Given the description of an element on the screen output the (x, y) to click on. 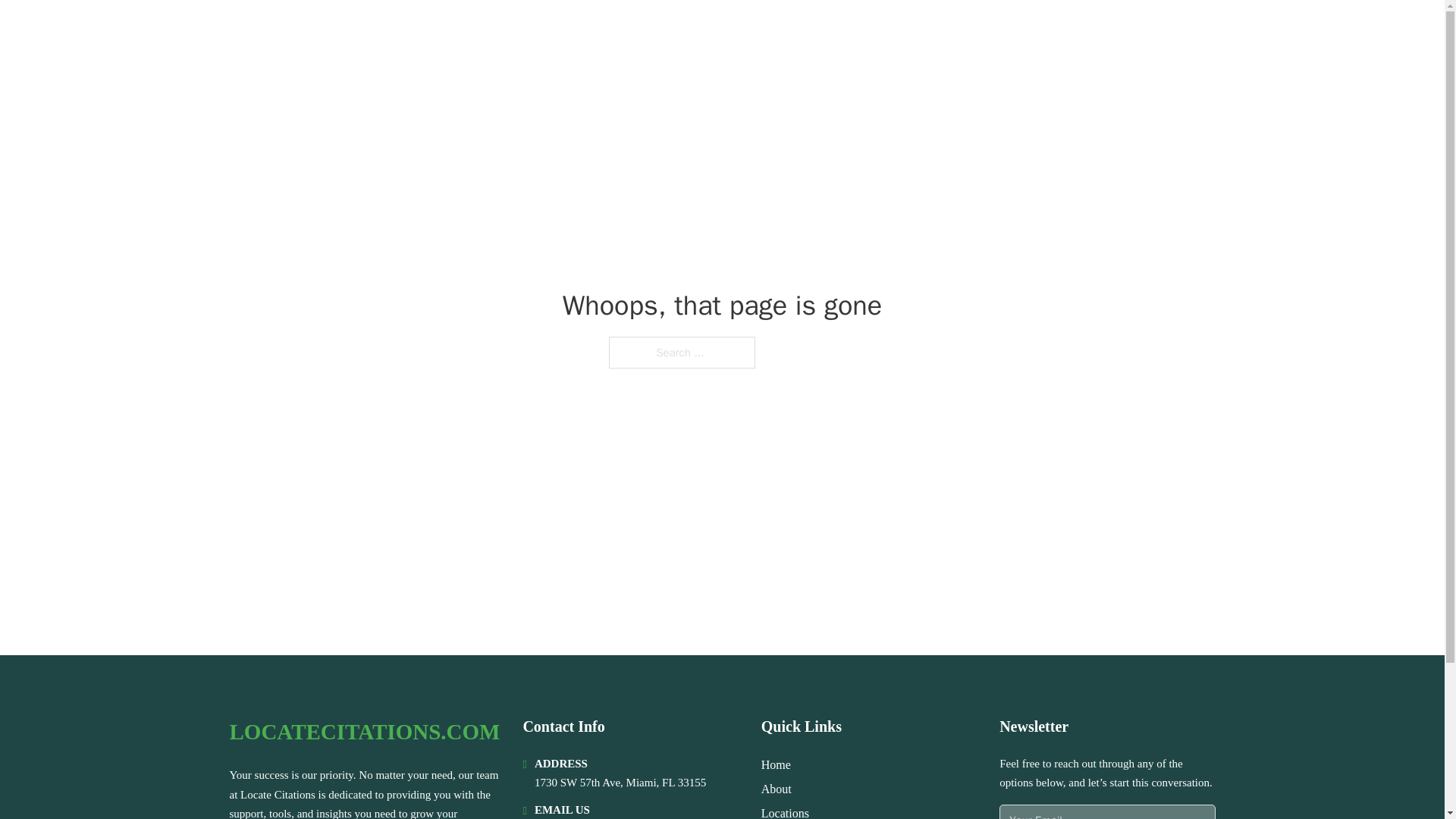
Locations (785, 811)
HOME (1025, 31)
About (776, 788)
Home (775, 764)
LOCATIONS (1098, 31)
LOCATECITATIONS.COM (363, 732)
LOCATECITATIONS.COM (377, 31)
